Given the description of an element on the screen output the (x, y) to click on. 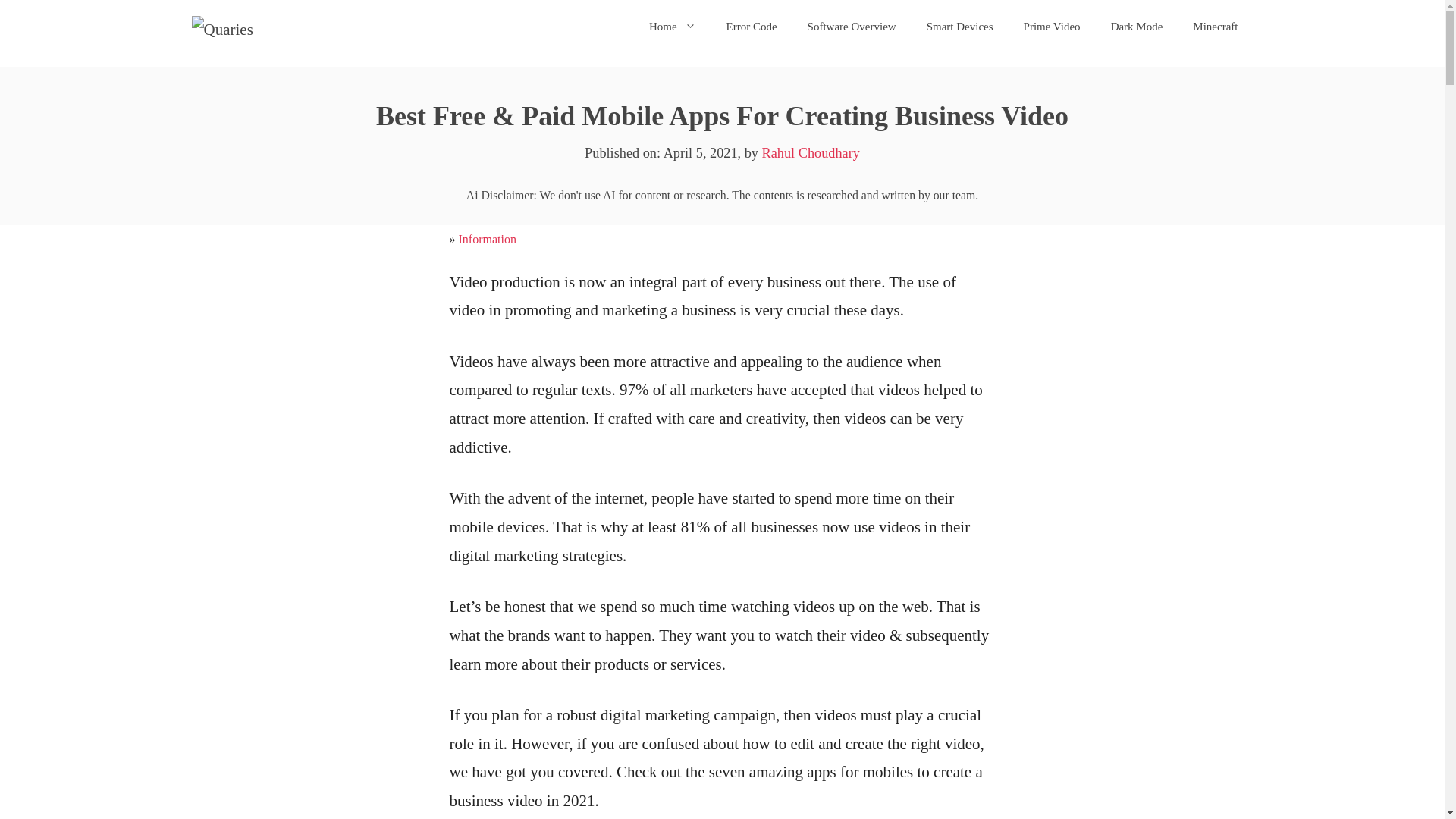
Software Overview (851, 26)
Information (486, 238)
Minecraft (1214, 26)
Prime Video (1052, 26)
Home (672, 26)
Error Code (751, 26)
Rahul Choudhary (810, 152)
Dark Mode (1136, 26)
View all posts by Rahul Choudhary (810, 152)
Smart Devices (960, 26)
